Given the description of an element on the screen output the (x, y) to click on. 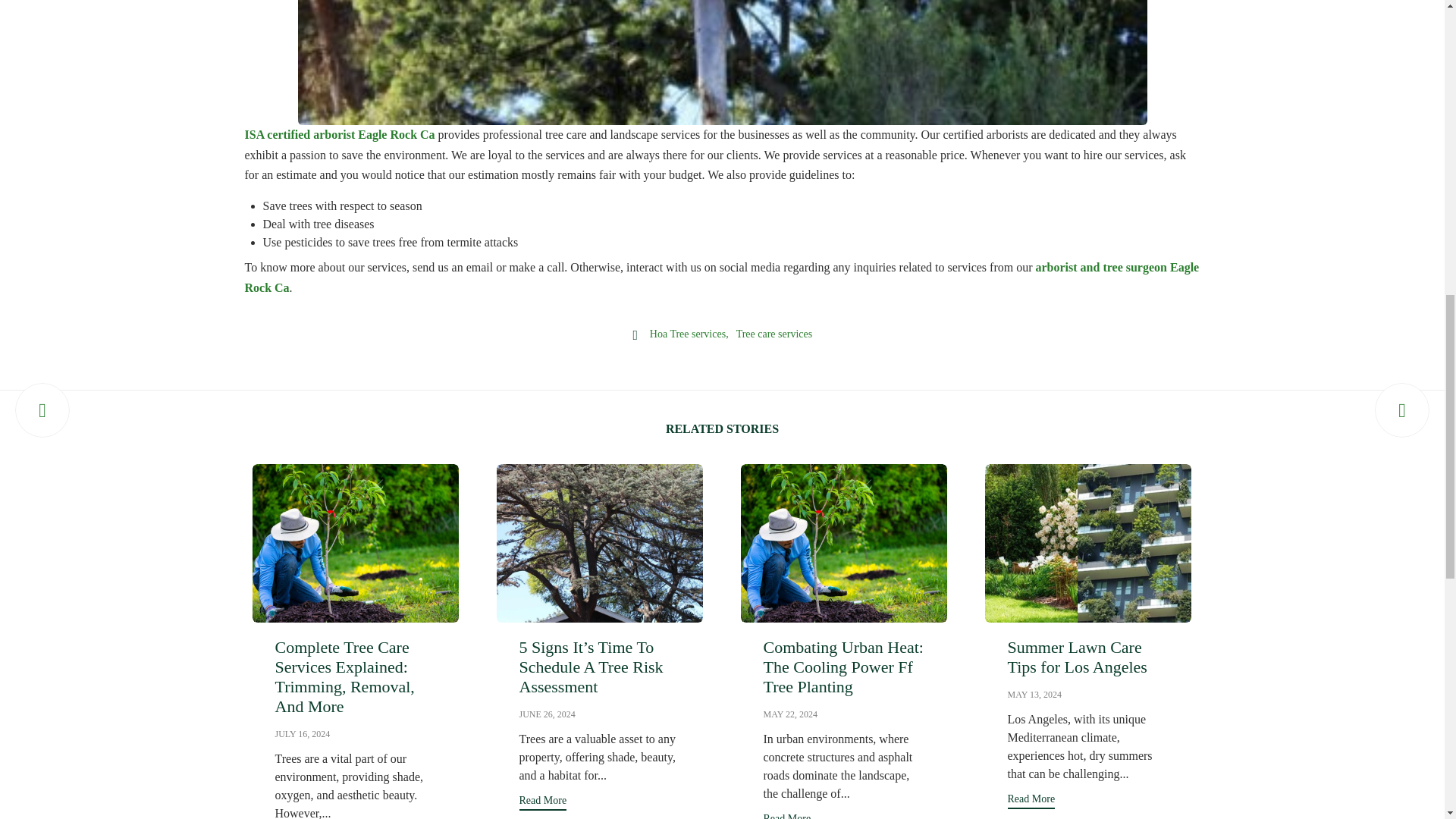
Tree care services (774, 335)
arborist and tree surgeon Eagle Rock Ca (721, 277)
JULY 16, 2024 (302, 733)
ISA certified arborist Eagle Rock Ca (338, 134)
Combating Urban Heat: The Cooling Power Ff Tree Planting (789, 714)
Combating Urban Heat: The Cooling Power Ff Tree Planting (842, 543)
Combating Urban Heat: The Cooling Power Ff Tree Planting (842, 667)
Hoa Tree services (689, 335)
Summer Lawn Care Tips for Los Angeles (1087, 543)
